Given the description of an element on the screen output the (x, y) to click on. 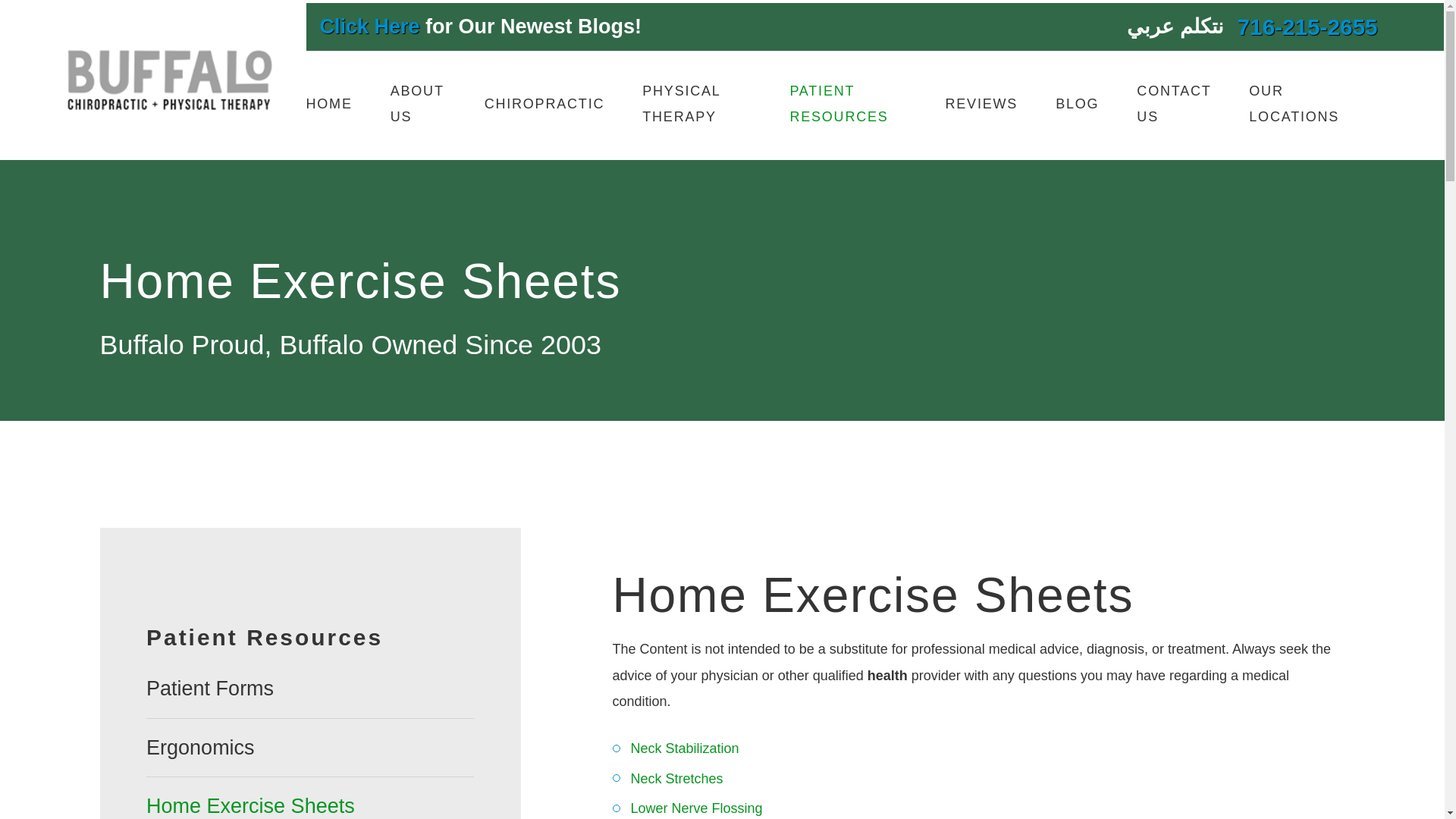
Home (168, 79)
CHIROPRACTIC (544, 103)
Click Here (370, 26)
716-215-2655 (1307, 26)
PHYSICAL THERAPY (696, 103)
